Given the description of an element on the screen output the (x, y) to click on. 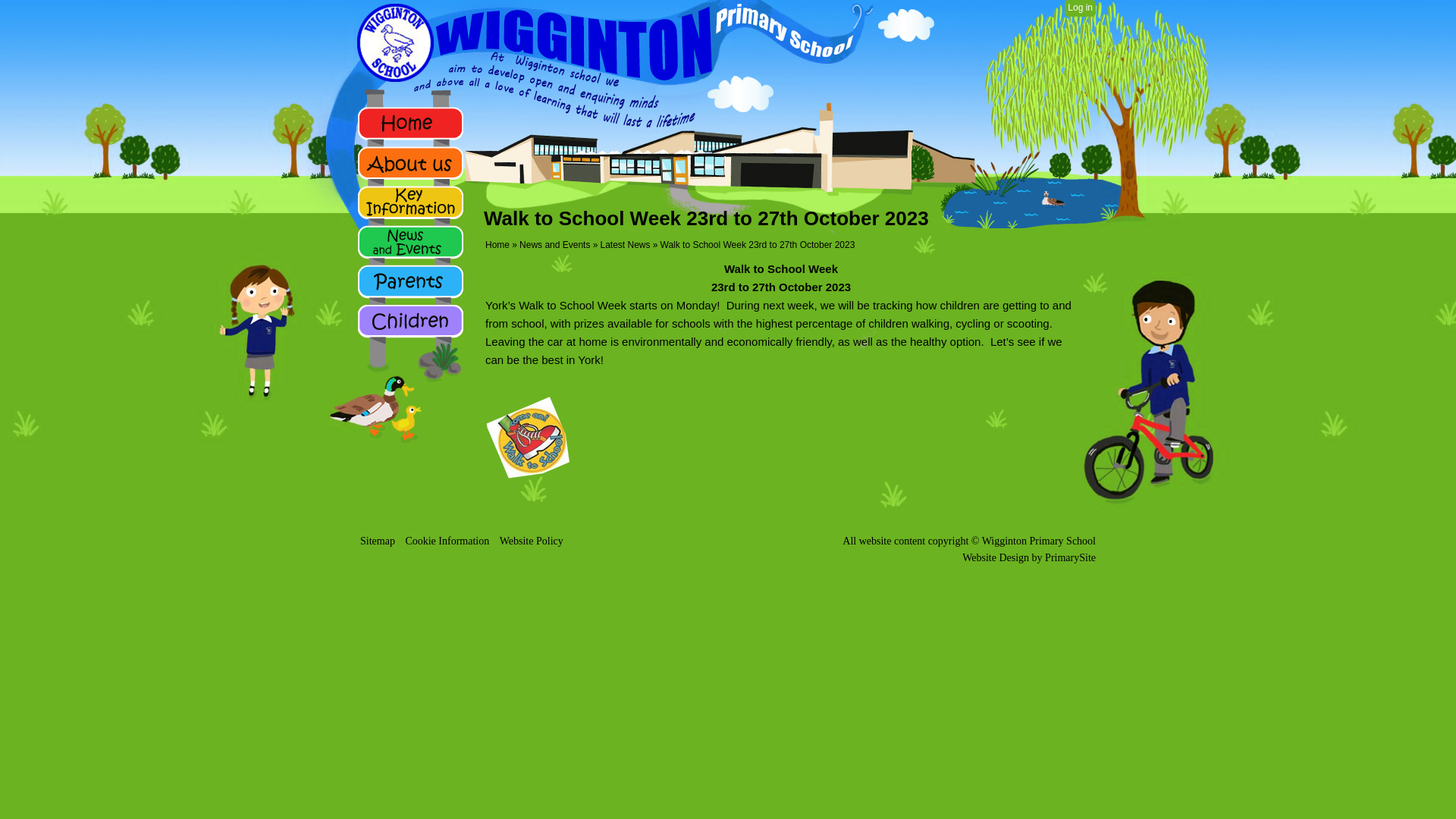
Home Page (606, 43)
News and Events (554, 244)
Walk to School Week 23rd to 27th October 2023 (758, 244)
Log in (1080, 8)
Latest News (624, 244)
Home Page (606, 43)
About Us (410, 162)
Key Information (410, 202)
Home (496, 244)
Home (410, 122)
